Given the description of an element on the screen output the (x, y) to click on. 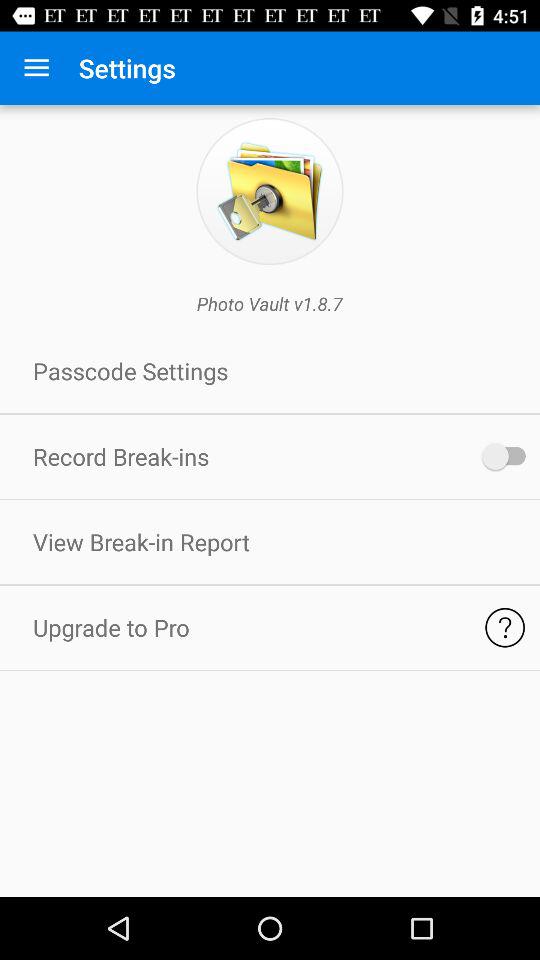
upgrade to pro (504, 627)
